Given the description of an element on the screen output the (x, y) to click on. 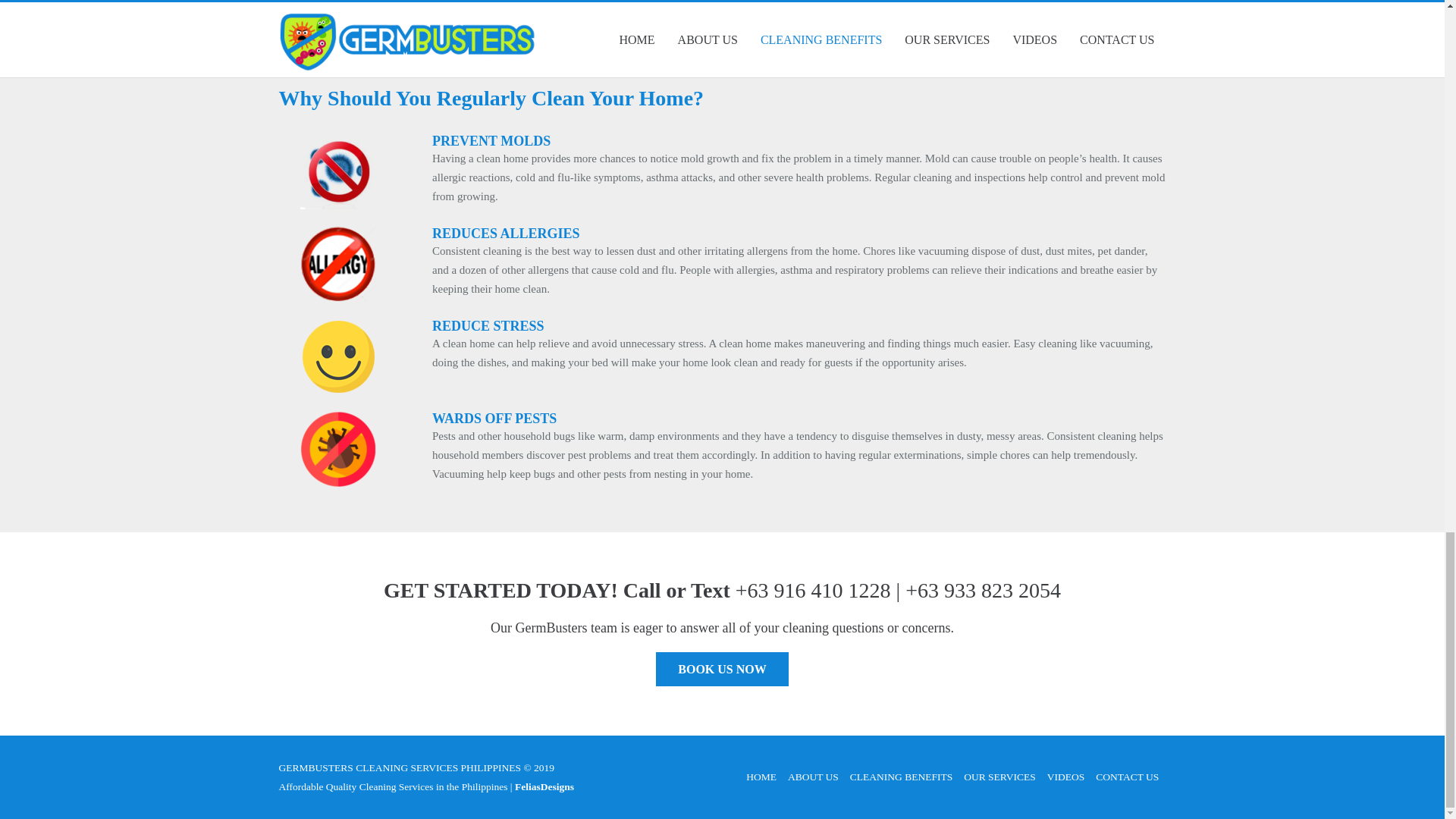
ABOUT US (812, 776)
 FeliasDesigns (542, 786)
VIDEOS (1065, 776)
CLEANING BENEFITS (901, 776)
OUR SERVICES (999, 776)
HOME (760, 776)
BOOK US NOW (721, 668)
CONTACT US (1127, 776)
